Given the description of an element on the screen output the (x, y) to click on. 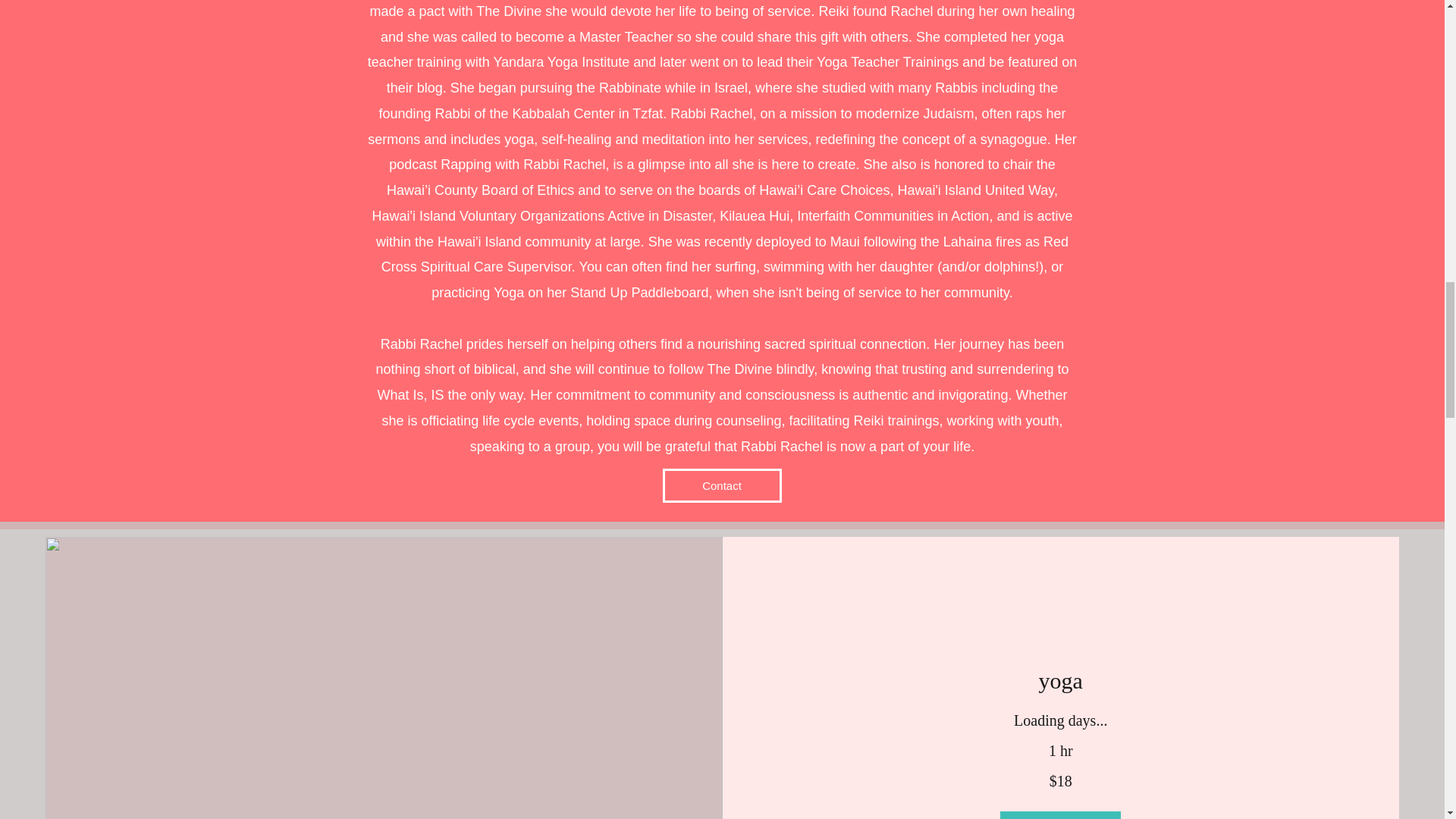
Contact (721, 485)
yoga (1059, 680)
reserve your space (1060, 815)
